Given the description of an element on the screen output the (x, y) to click on. 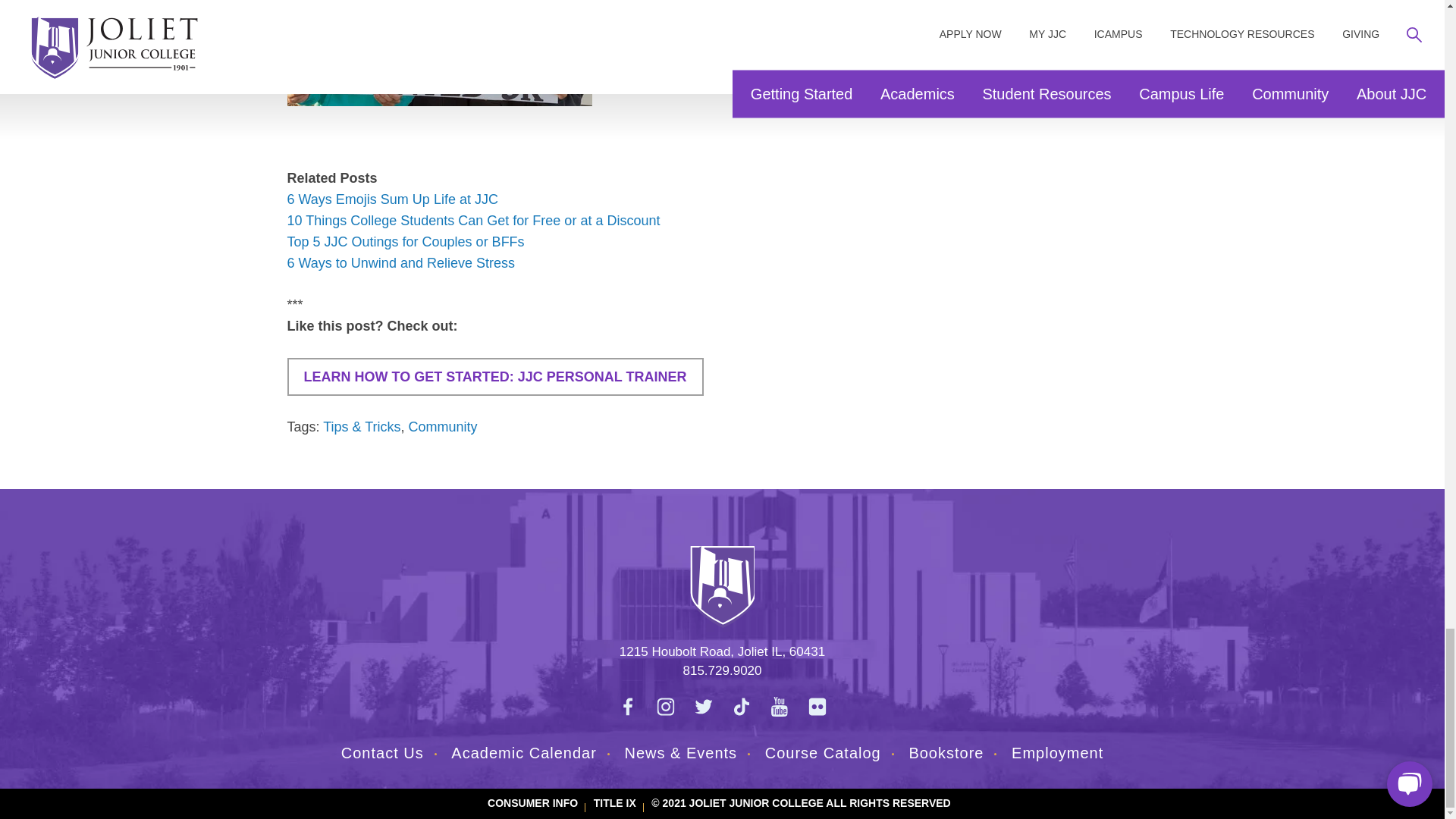
Learn How to Get Started: JJC Personal Trainer (494, 376)
Visit us on TikTok (741, 706)
Visit us on Facebook (627, 706)
Visit us on Instagram (665, 706)
Visit us on YouTube (778, 706)
Visit us on Twitter (703, 706)
Visit us on Flickr (816, 706)
